Given the description of an element on the screen output the (x, y) to click on. 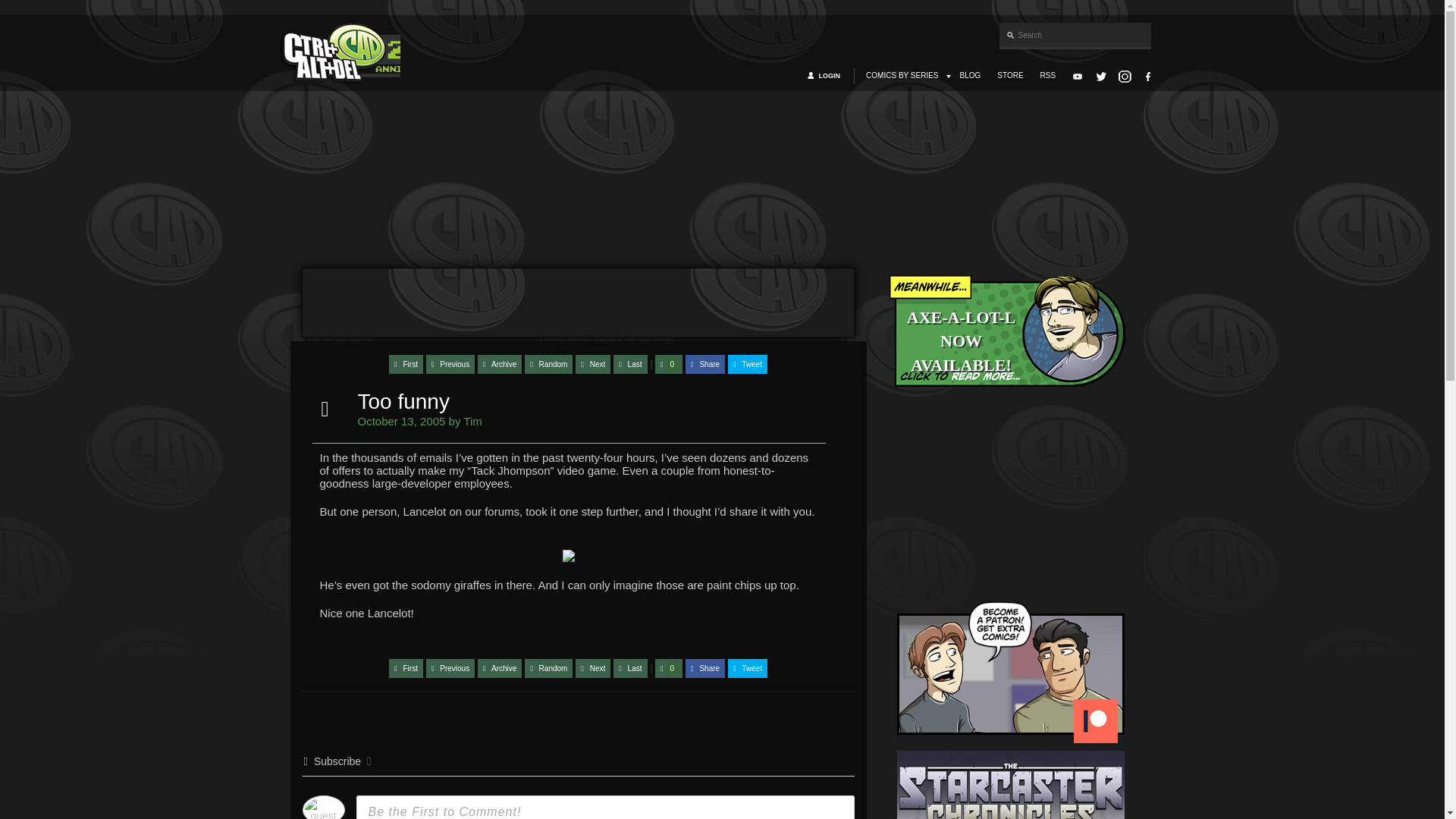
Previous (450, 363)
Blog (970, 76)
COMICS BY SERIES (901, 76)
First (405, 363)
Store (1010, 76)
Random (548, 363)
Archive (499, 363)
LOGIN (832, 75)
STORE (1010, 76)
RSS (1049, 76)
BLOG (970, 76)
RSS (1049, 76)
AXE-A-LOT-L NOW AVAILABLE! (1009, 335)
